Given the description of an element on the screen output the (x, y) to click on. 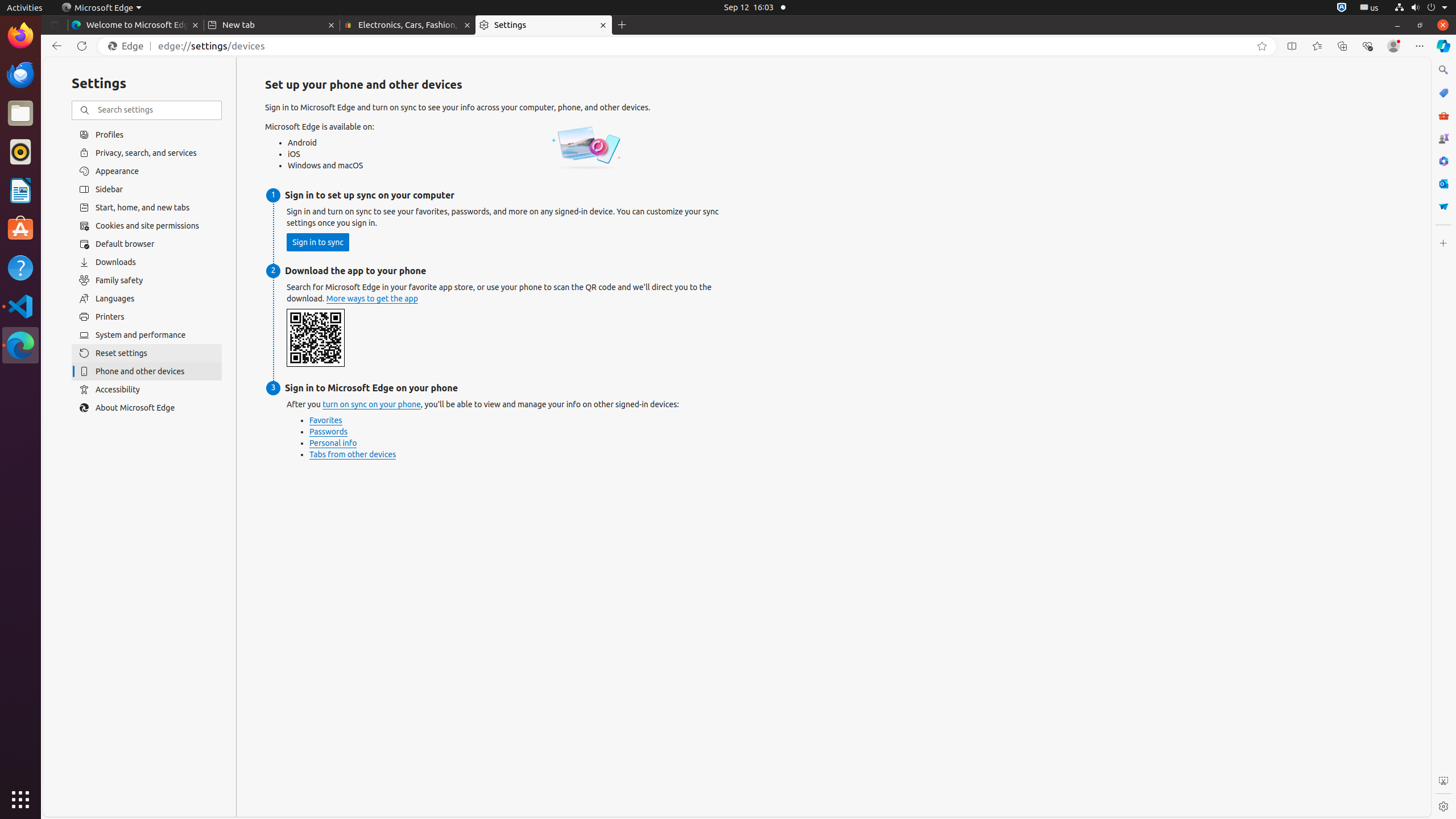
turn on sync on your phone Element type: link (371, 404)
Android Element type: list-item (328, 142)
Collections Element type: push-button (1341, 45)
Microsoft Shopping Element type: push-button (1443, 92)
Start, home, and new tabs Element type: tree-item (146, 207)
